Given the description of an element on the screen output the (x, y) to click on. 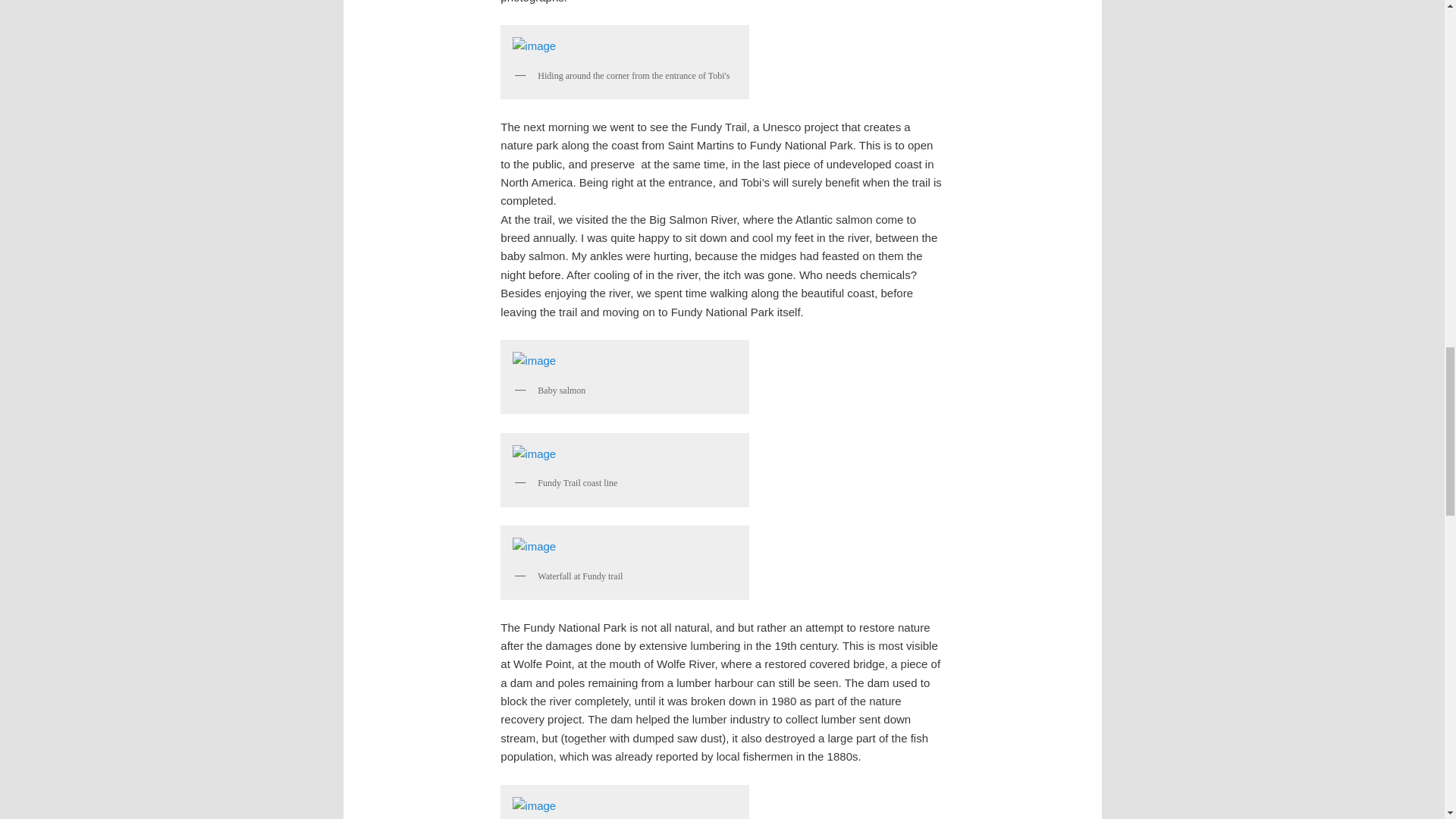
1342669516874.jpg (624, 45)
1342670278245.jpg (624, 360)
1342670650630.jpg (624, 453)
1342671544163.jpg (624, 805)
1342670685615.jpg (624, 546)
